Given the description of an element on the screen output the (x, y) to click on. 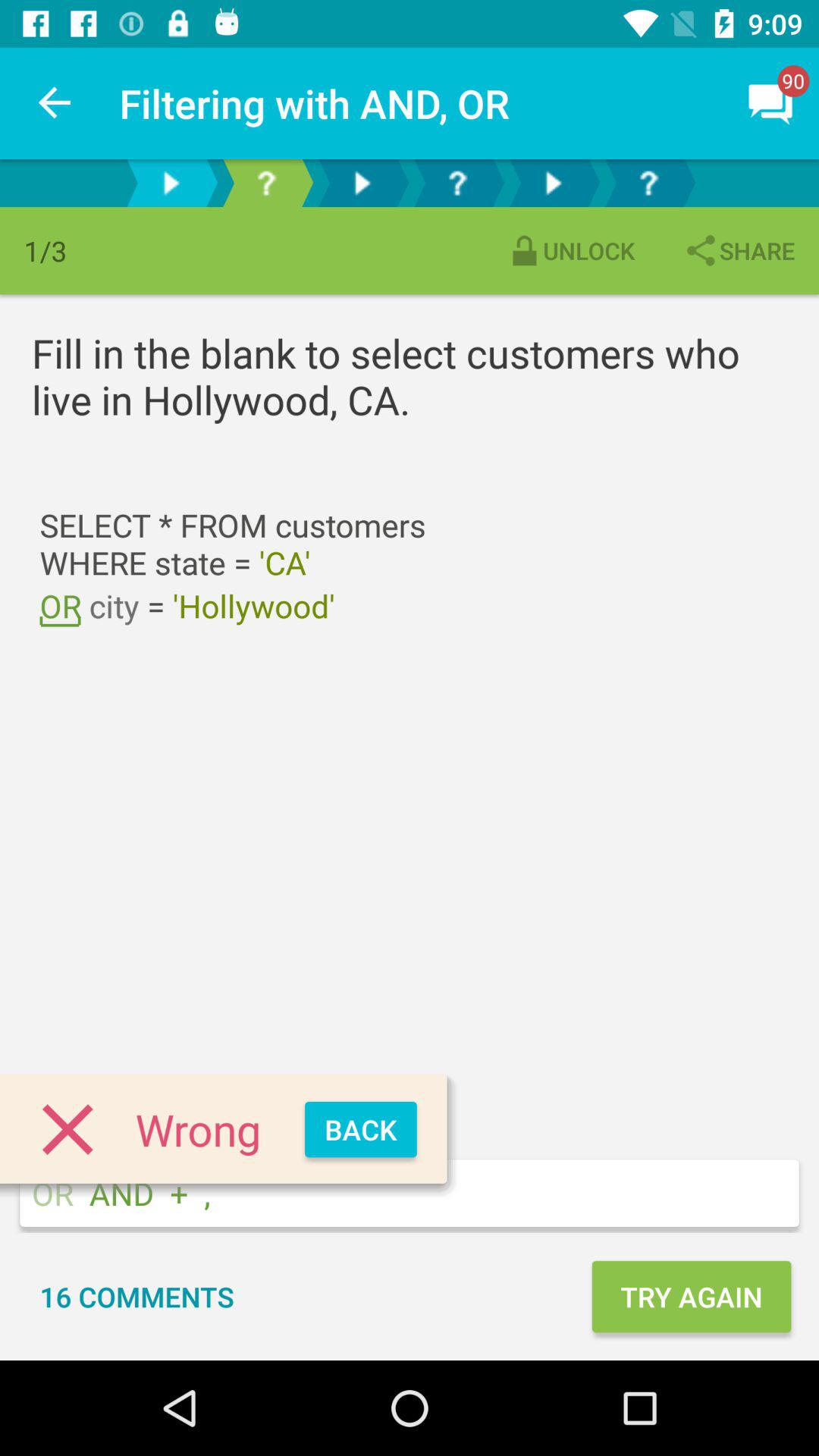
turn off item next to filtering with and item (55, 103)
